Given the description of an element on the screen output the (x, y) to click on. 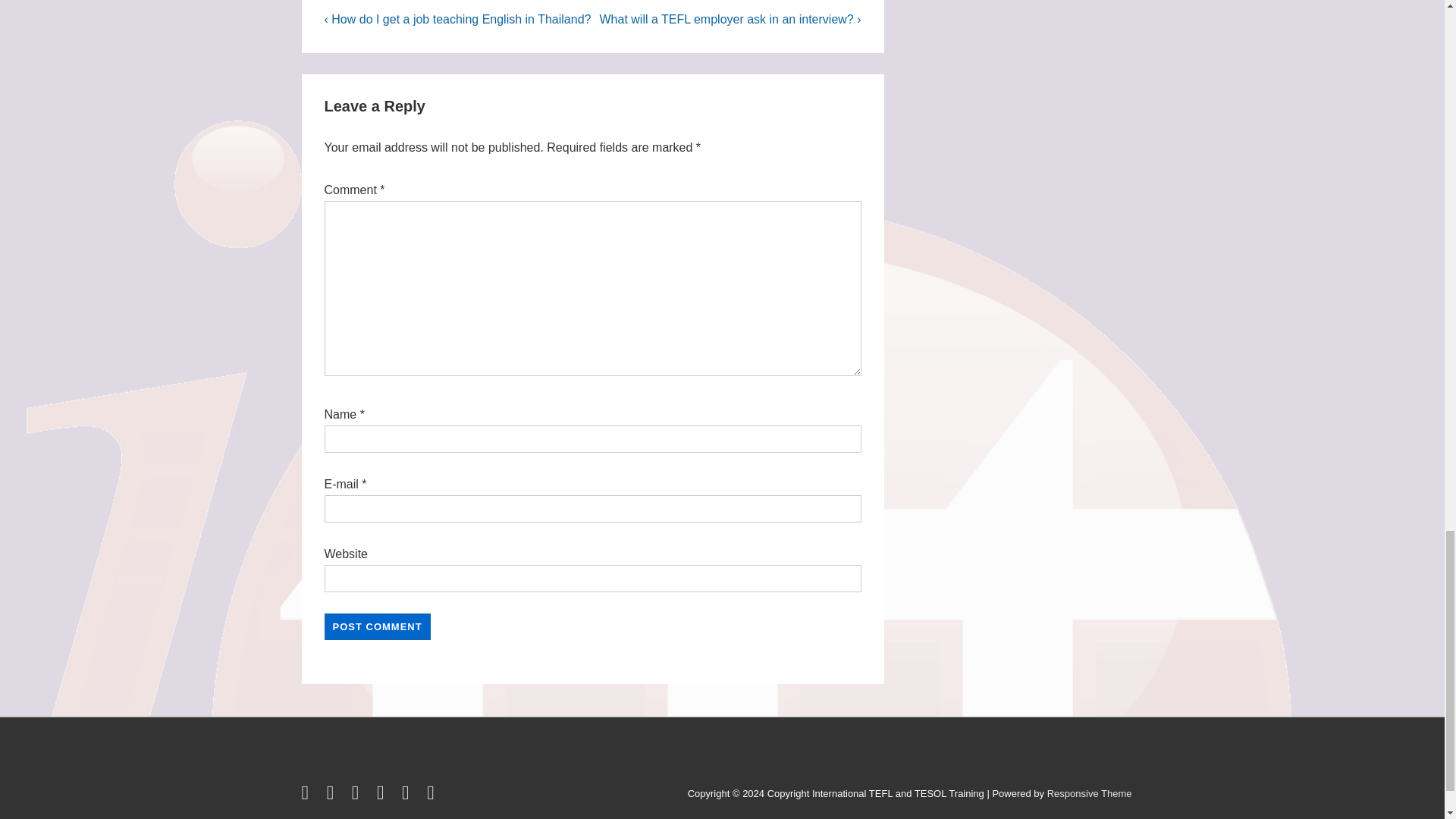
pinterest (407, 795)
youtube (383, 795)
facebook (333, 795)
Responsive Theme (1089, 793)
linkedin (358, 795)
Post Comment (377, 626)
twitter (308, 795)
Post Comment (377, 626)
vimeo (432, 795)
